Given the description of an element on the screen output the (x, y) to click on. 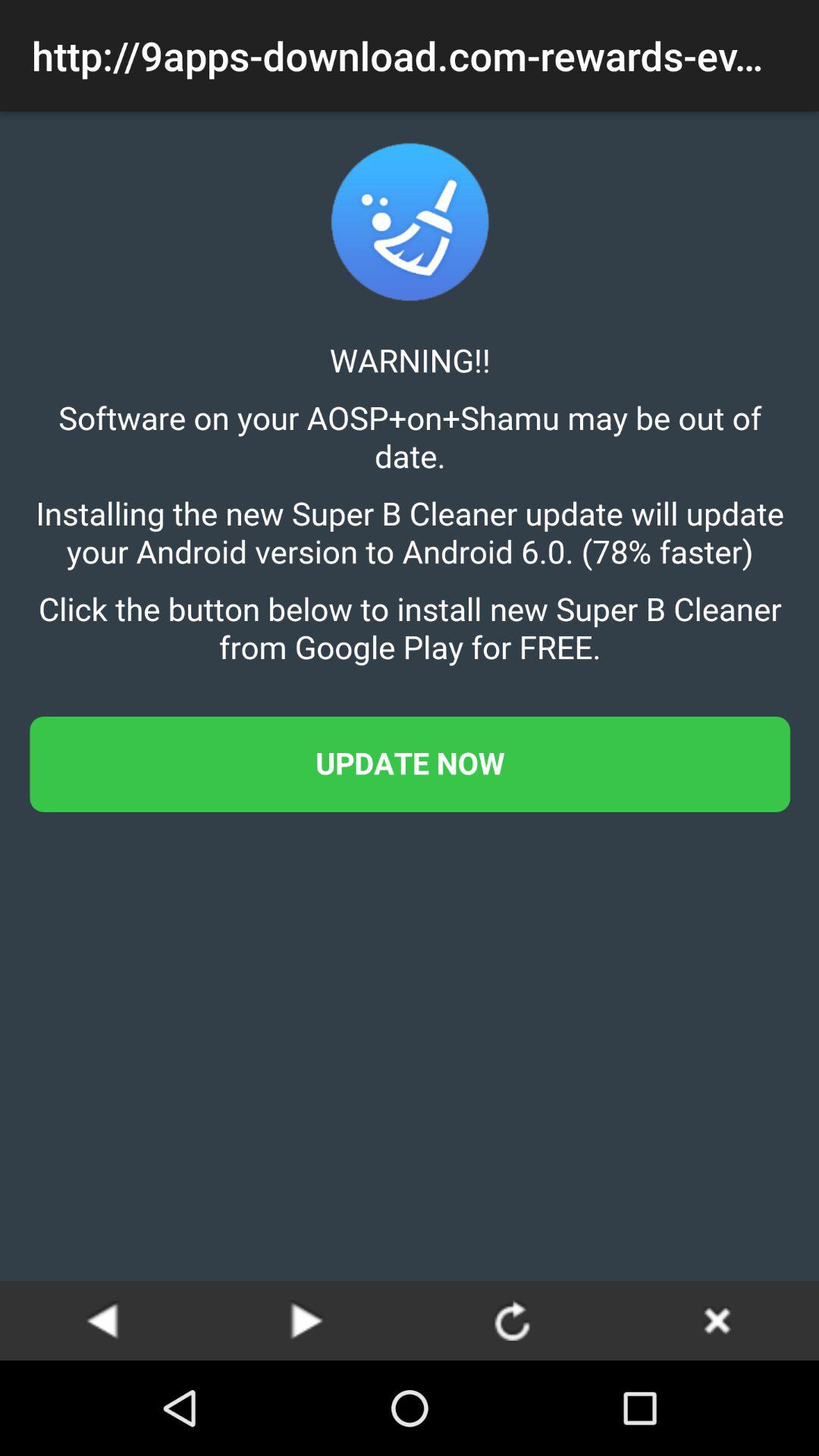
refresh this page (511, 1320)
